Given the description of an element on the screen output the (x, y) to click on. 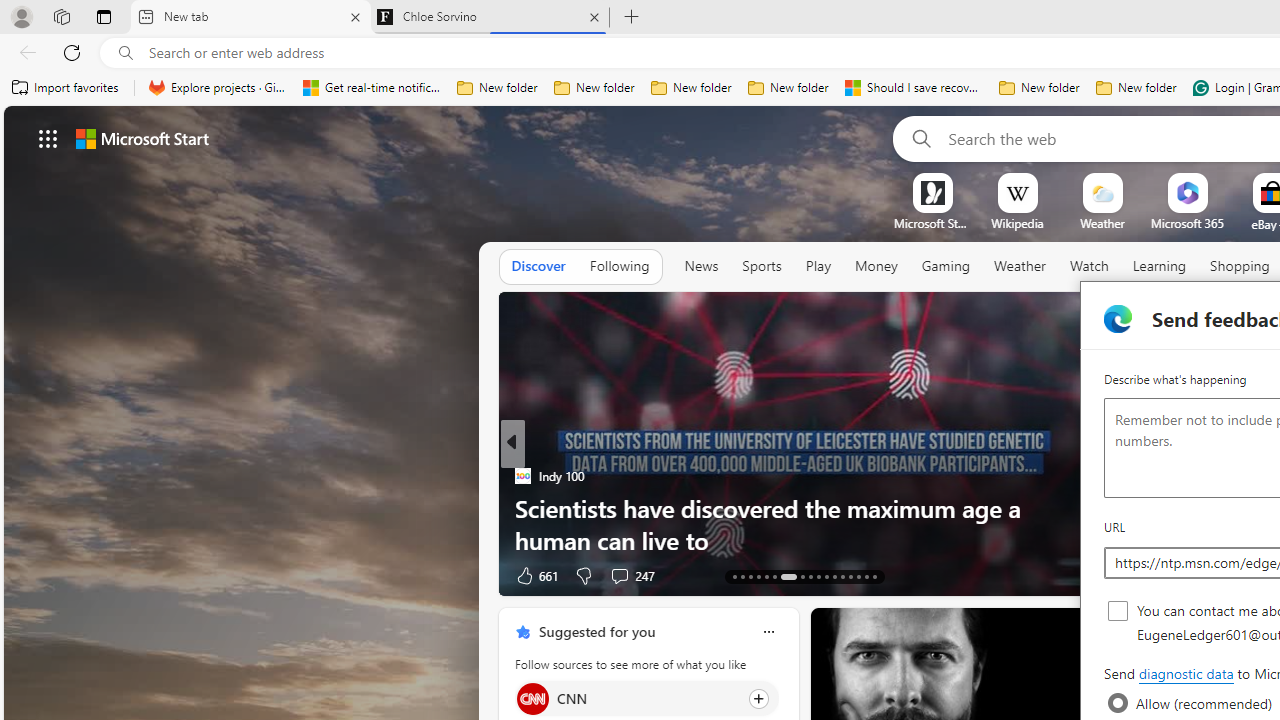
AutomationID: tab-23 (825, 576)
View comments 247 Comment (619, 575)
AutomationID: tab-24 (833, 576)
AutomationID: tab-42 (874, 576)
AutomationID: tab-16 (757, 576)
News (701, 267)
Learning (1159, 265)
News (701, 265)
Gaming (945, 265)
Allow (recommended) (1117, 703)
Class: icon-img (768, 632)
